Given the description of an element on the screen output the (x, y) to click on. 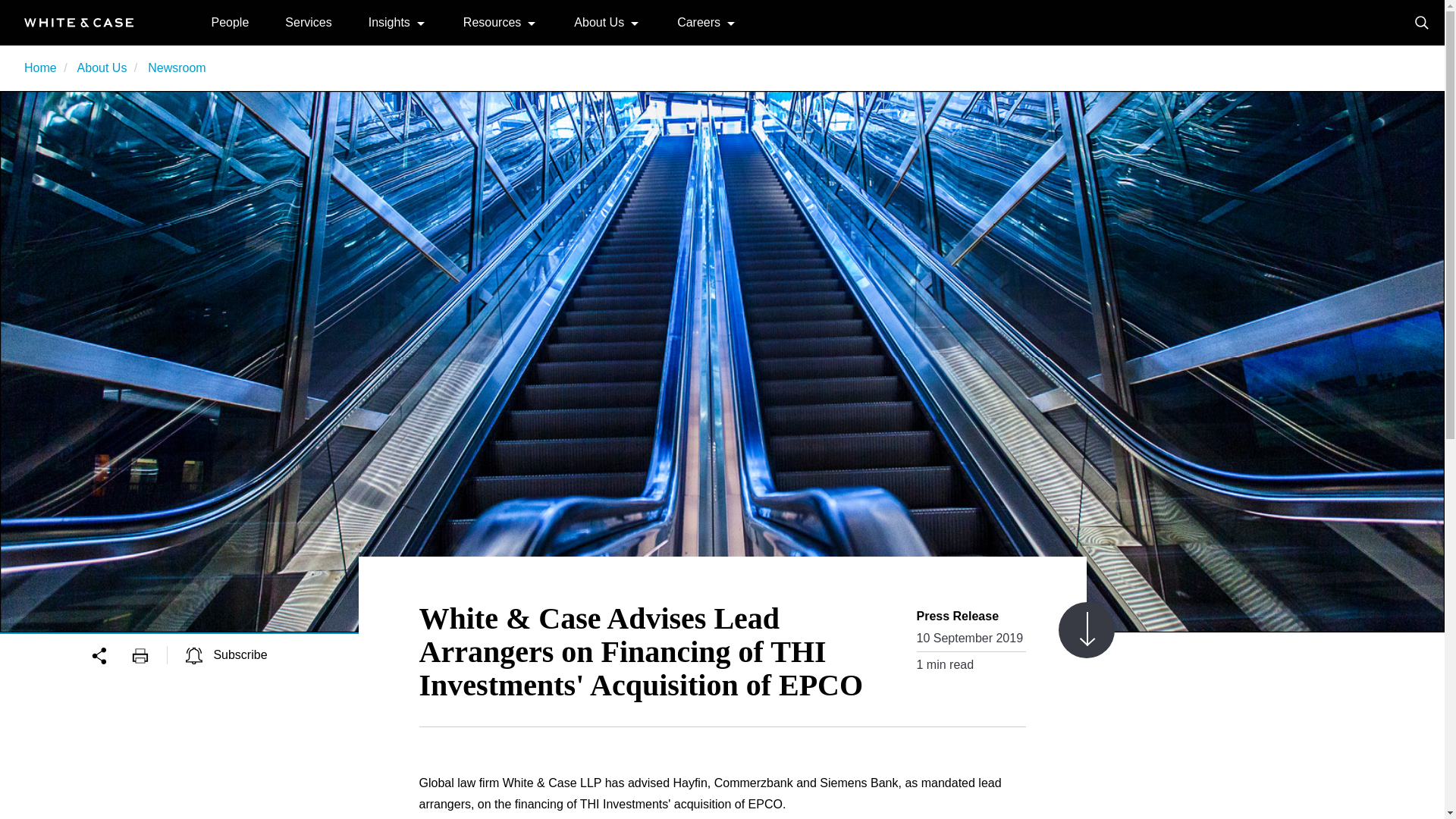
Home (78, 22)
About Us (598, 21)
Resources (492, 21)
Subscribe (226, 654)
People (229, 21)
Print (149, 654)
About Us (102, 67)
Careers (698, 21)
Subscribe (226, 654)
Share (111, 654)
